Given the description of an element on the screen output the (x, y) to click on. 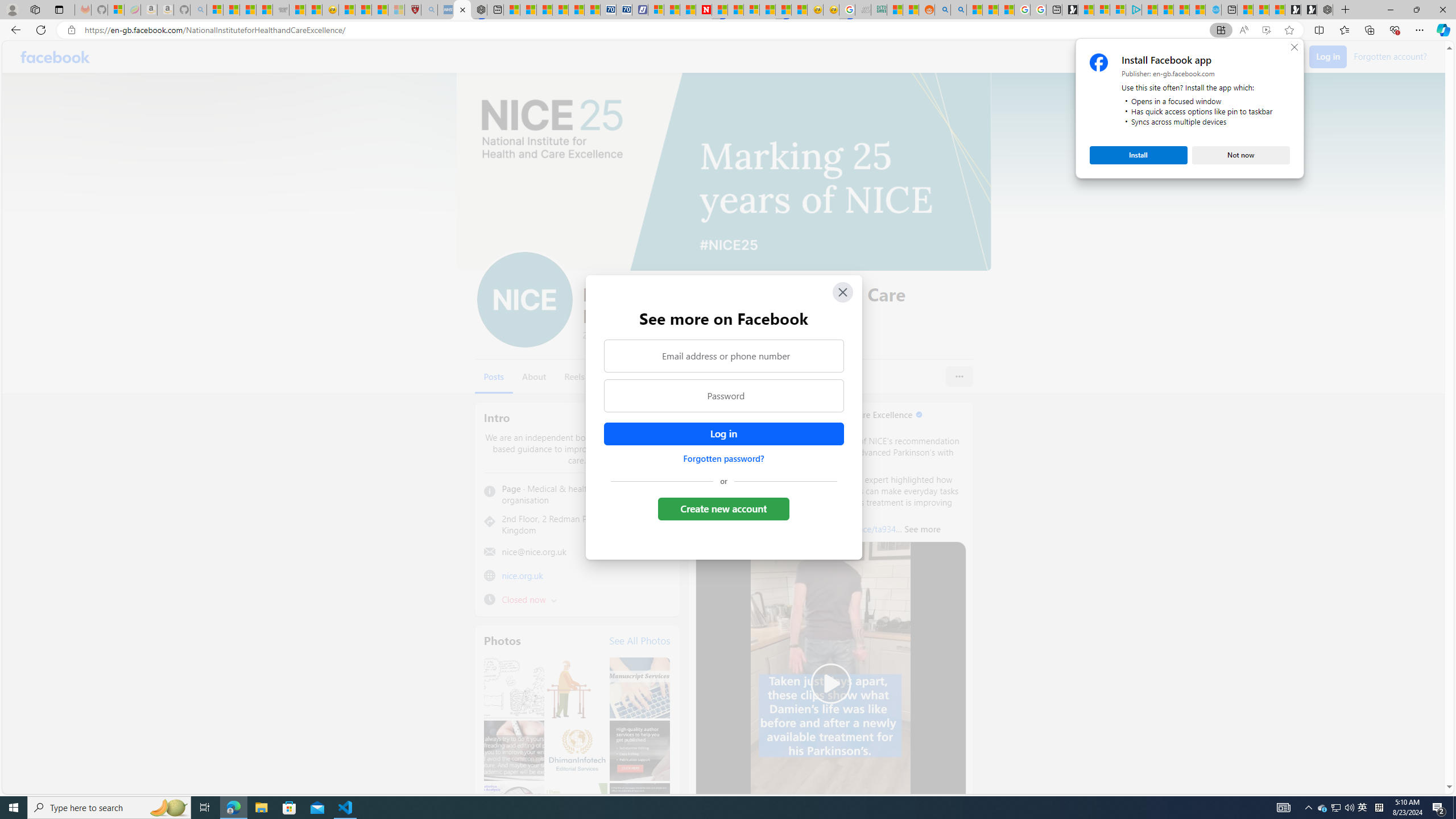
Email address or phone number (723, 355)
